Given the description of an element on the screen output the (x, y) to click on. 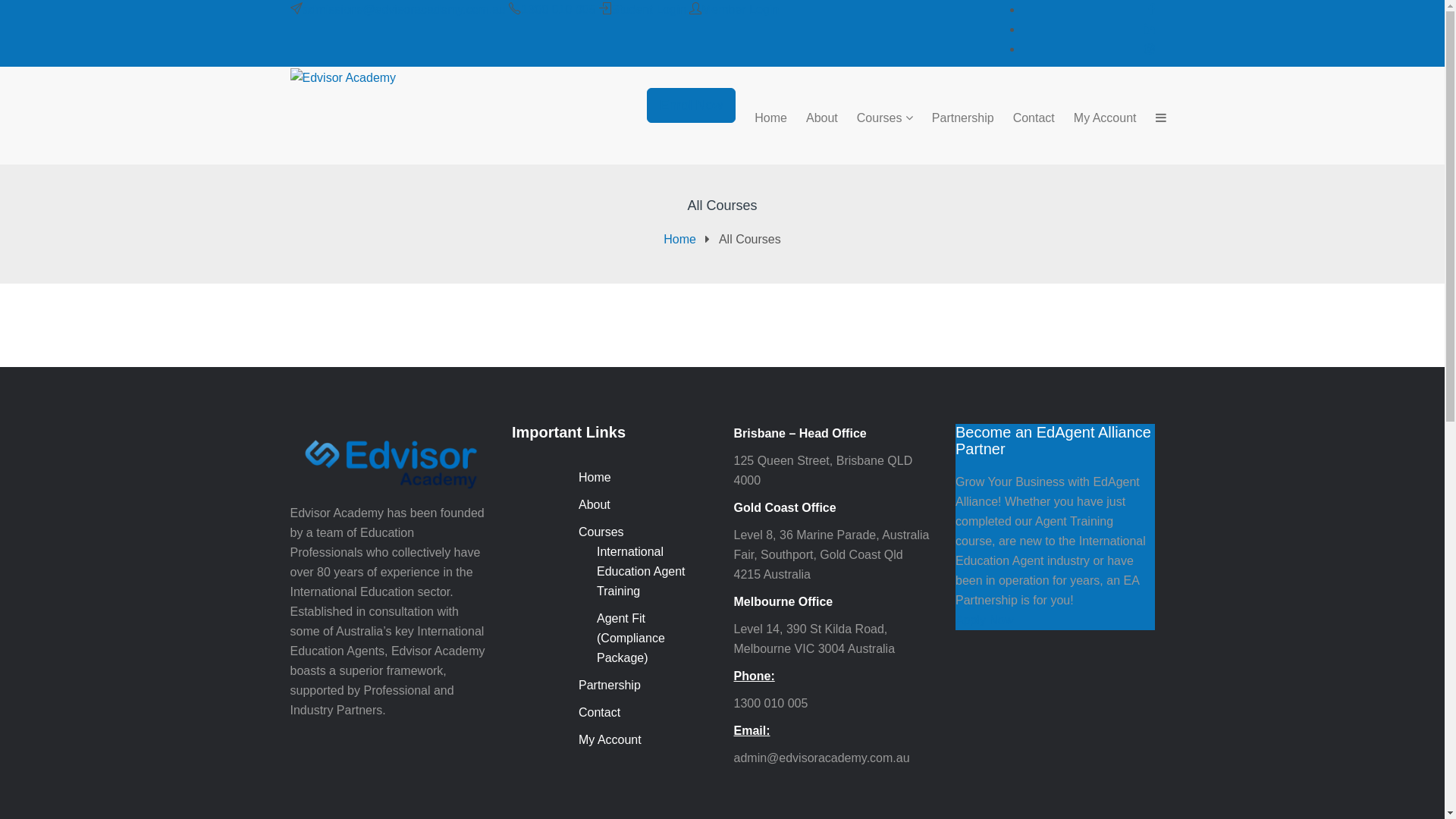
Home Element type: text (679, 238)
Apply Now Element type: text (984, 619)
Enrol Now Element type: text (690, 104)
My Account Element type: text (1095, 117)
Courses Element type: text (601, 531)
Contact Element type: text (599, 712)
Courses Element type: text (875, 117)
International Education Agent Training Element type: text (640, 571)
Member Login Element type: text (739, 9)
Home Element type: text (761, 117)
My Account Element type: text (609, 739)
Student Login Element type: text (648, 9)
admissions@edvisoracademy.com.au Element type: text (403, 9)
About Element type: text (594, 504)
Contact Element type: text (1024, 117)
About Element type: text (812, 117)
Home Element type: text (594, 476)
1300 010 005 Element type: text (557, 9)
Agent Fit (Compliance Package) Element type: text (630, 637)
Partnership Element type: text (953, 117)
Partnership Element type: text (609, 684)
